Given the description of an element on the screen output the (x, y) to click on. 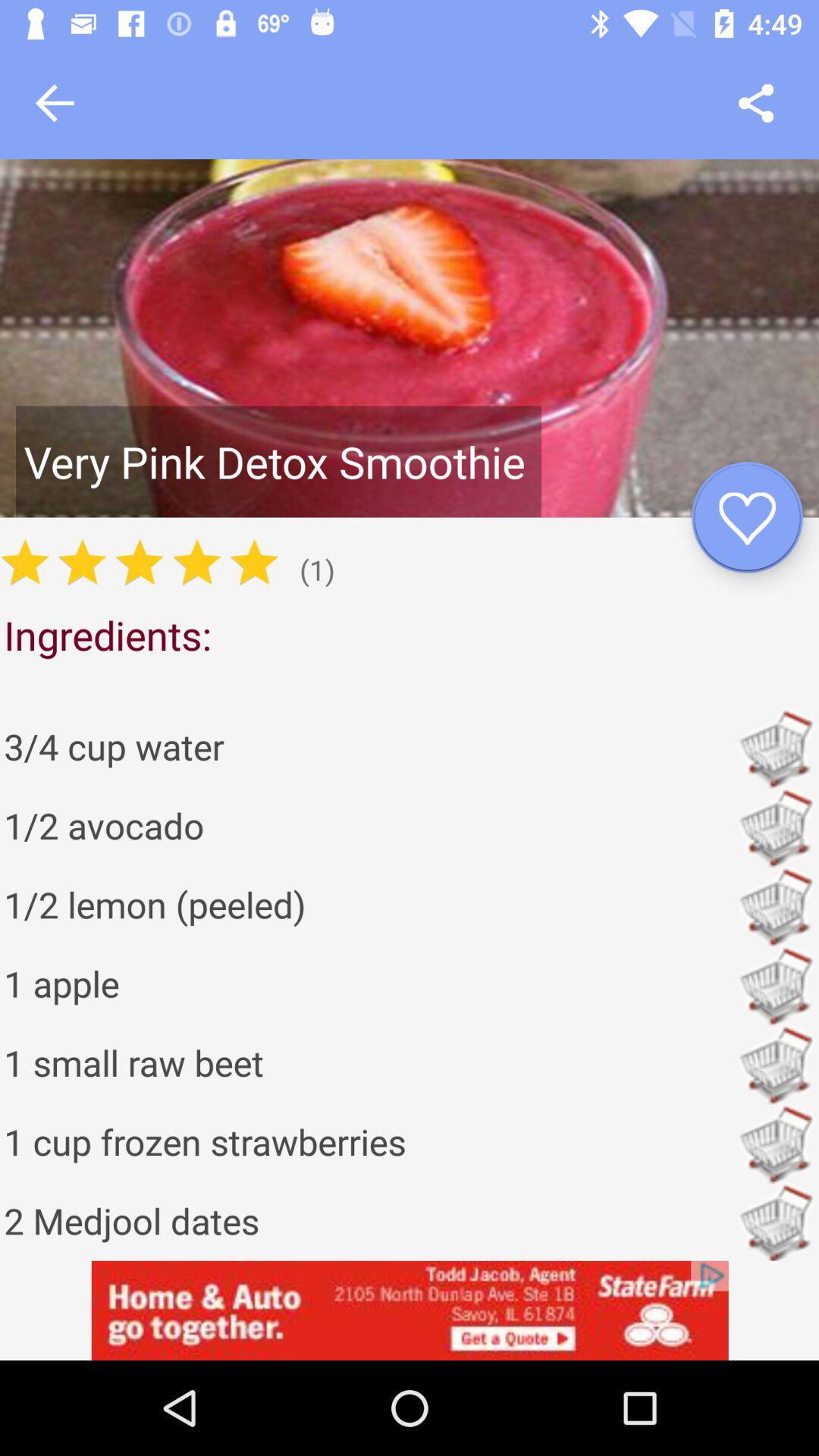
share recipe (756, 103)
